Given the description of an element on the screen output the (x, y) to click on. 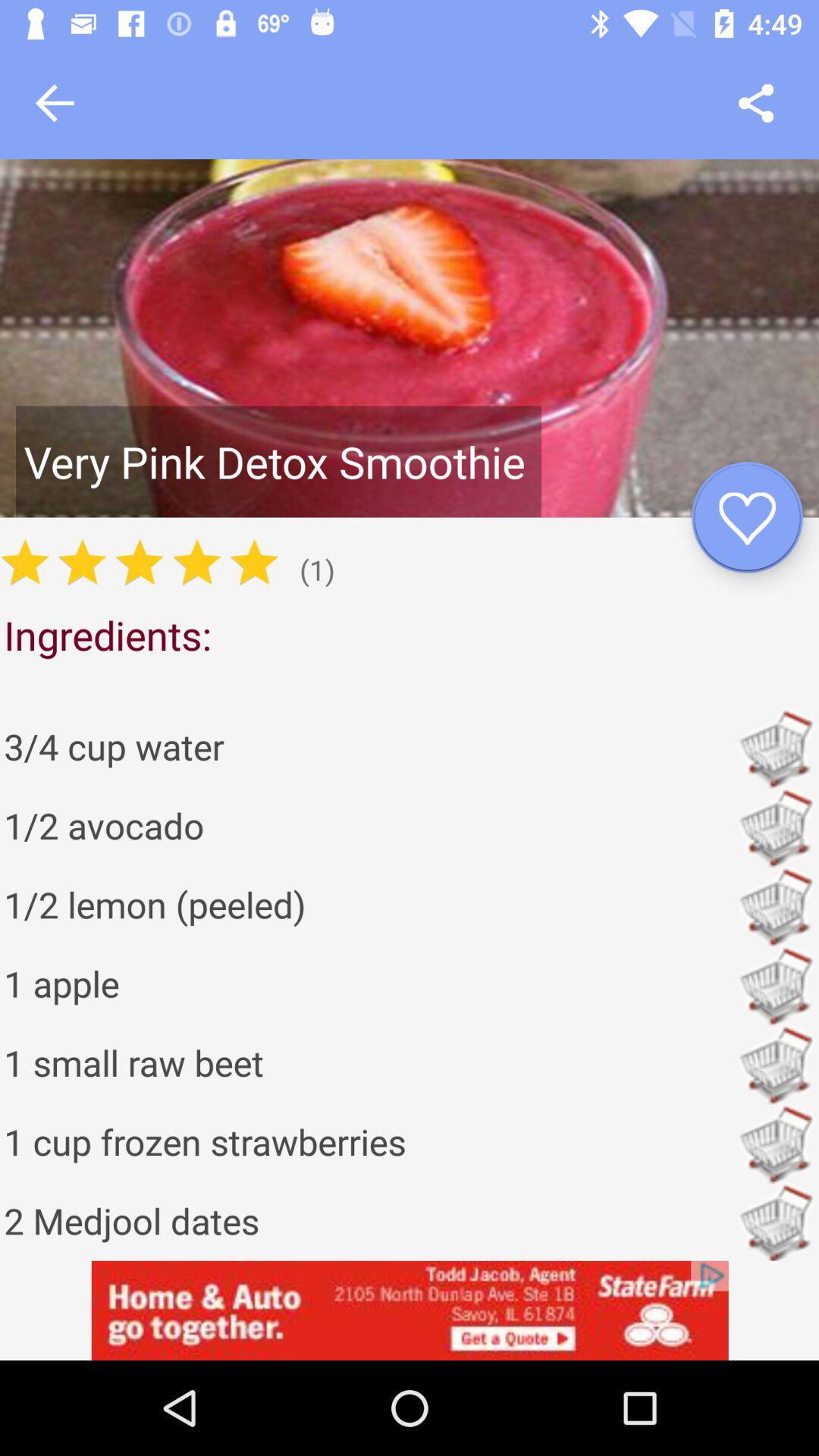
share recipe (756, 103)
